Given the description of an element on the screen output the (x, y) to click on. 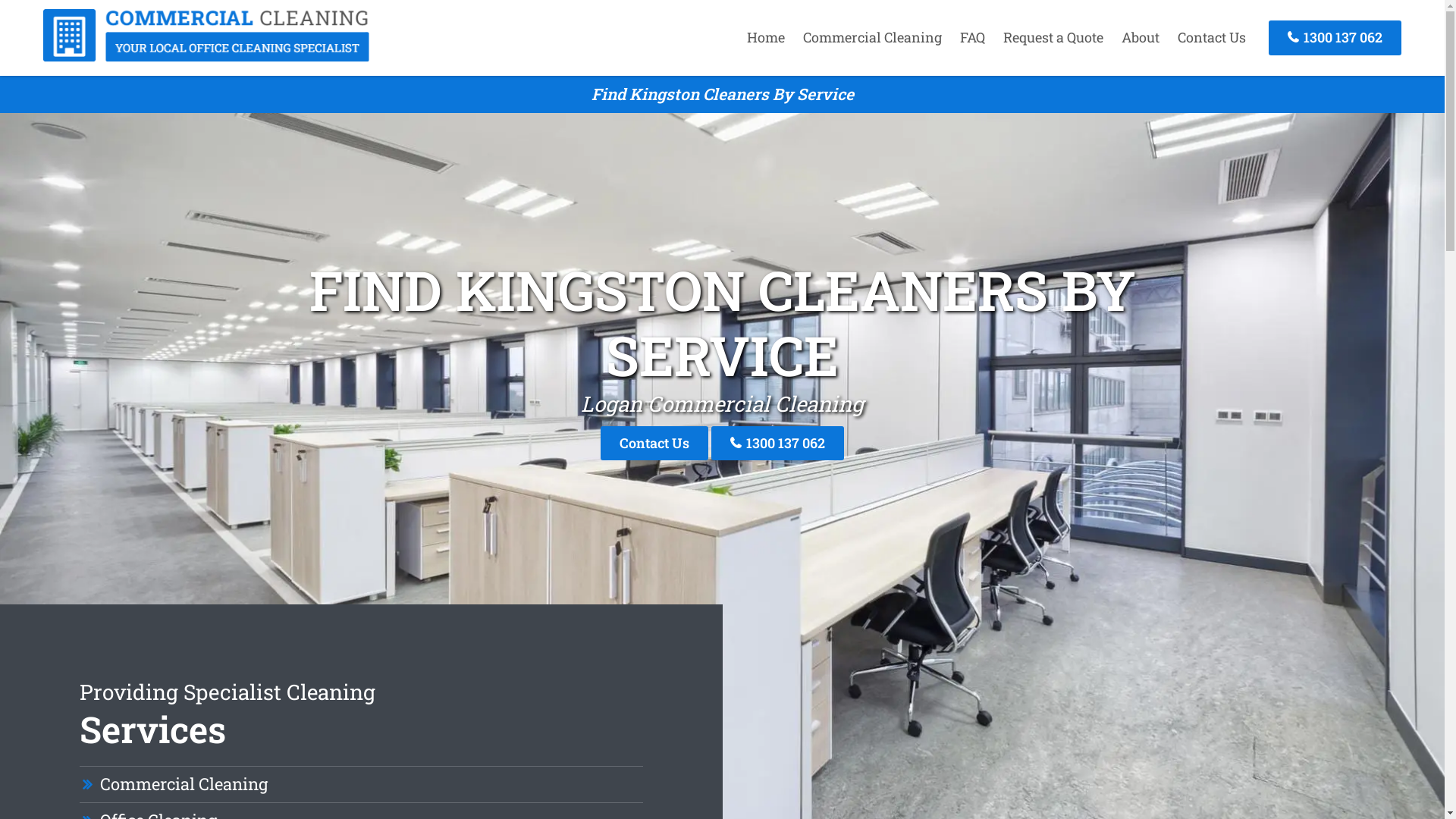
Contact Us Element type: text (1211, 37)
Commercial Cleaning Element type: text (872, 37)
About Element type: text (1140, 37)
Home Element type: text (765, 37)
Commercial Cleaning Element type: hover (206, 56)
Contact Us Element type: text (654, 443)
Commercial Cleaning Element type: text (183, 784)
Request a Quote Element type: text (1052, 37)
1300 137 062 Element type: text (777, 443)
FAQ Element type: text (972, 37)
1300 137 062 Element type: text (1334, 37)
